Given the description of an element on the screen output the (x, y) to click on. 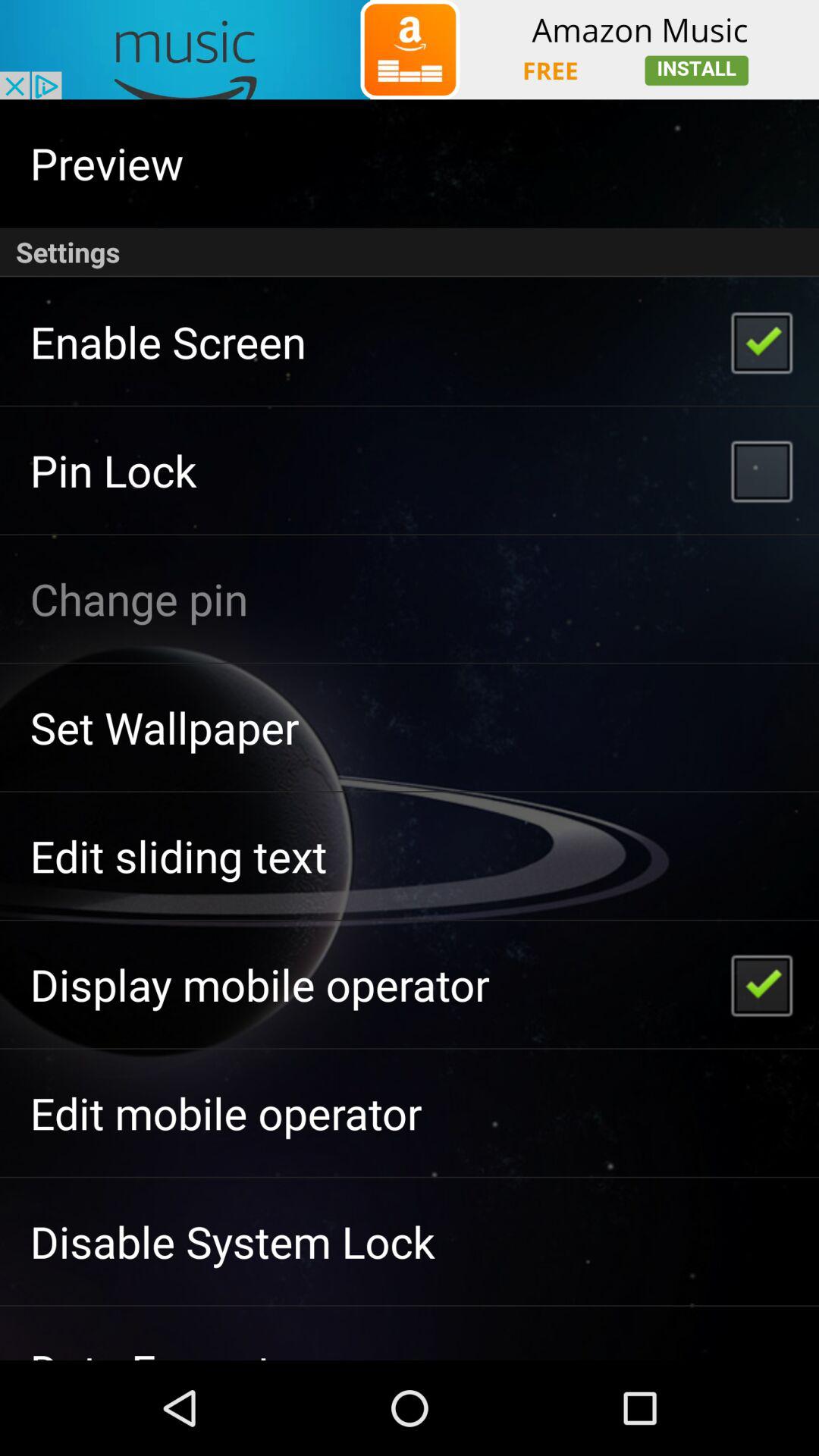
advertisement option (409, 49)
